Given the description of an element on the screen output the (x, y) to click on. 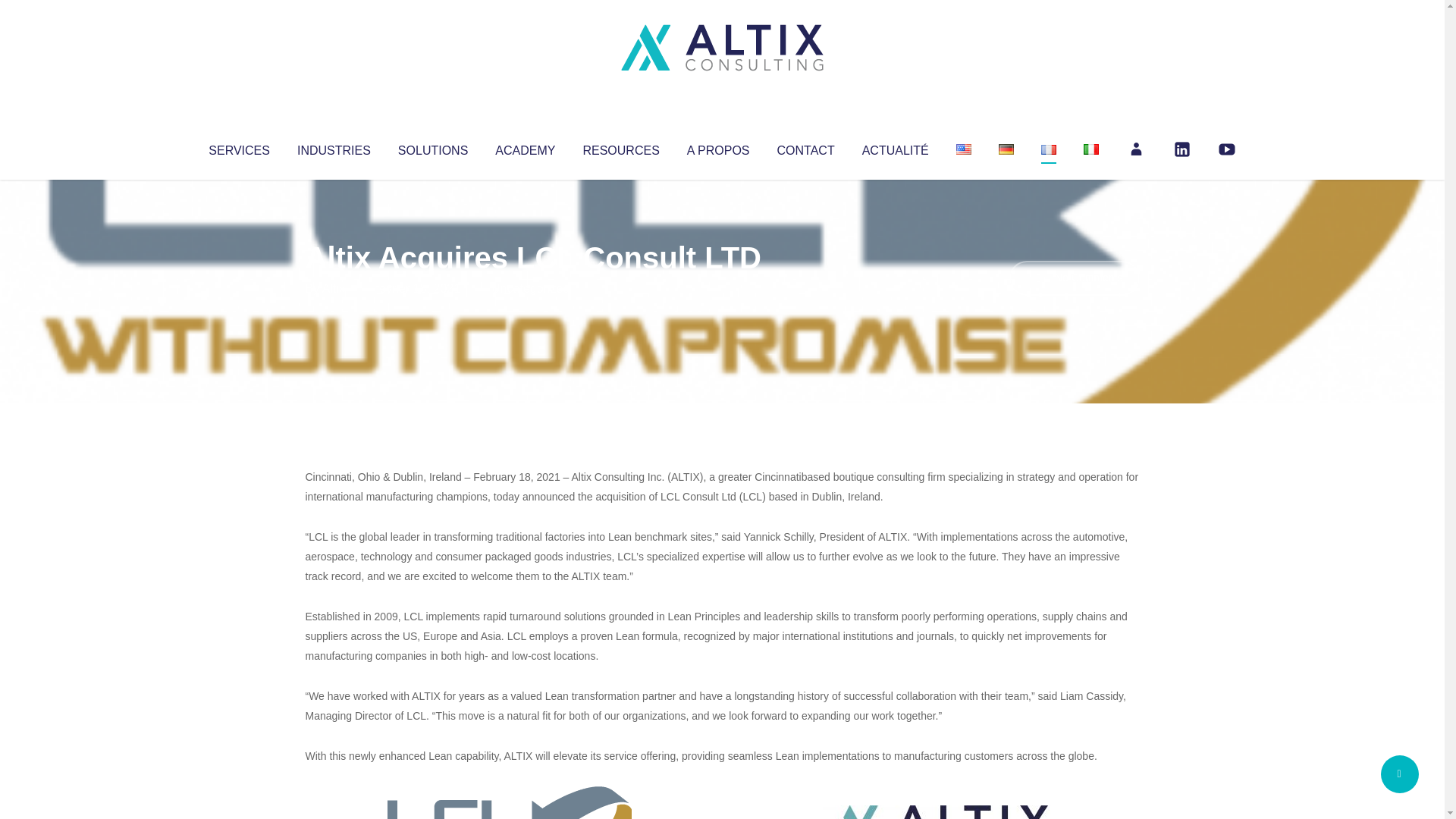
A PROPOS (718, 146)
No Comments (1073, 278)
INDUSTRIES (334, 146)
ACADEMY (524, 146)
Uncategorized (530, 287)
RESOURCES (620, 146)
Altix (333, 287)
SOLUTIONS (432, 146)
SERVICES (238, 146)
Articles par Altix (333, 287)
